Given the description of an element on the screen output the (x, y) to click on. 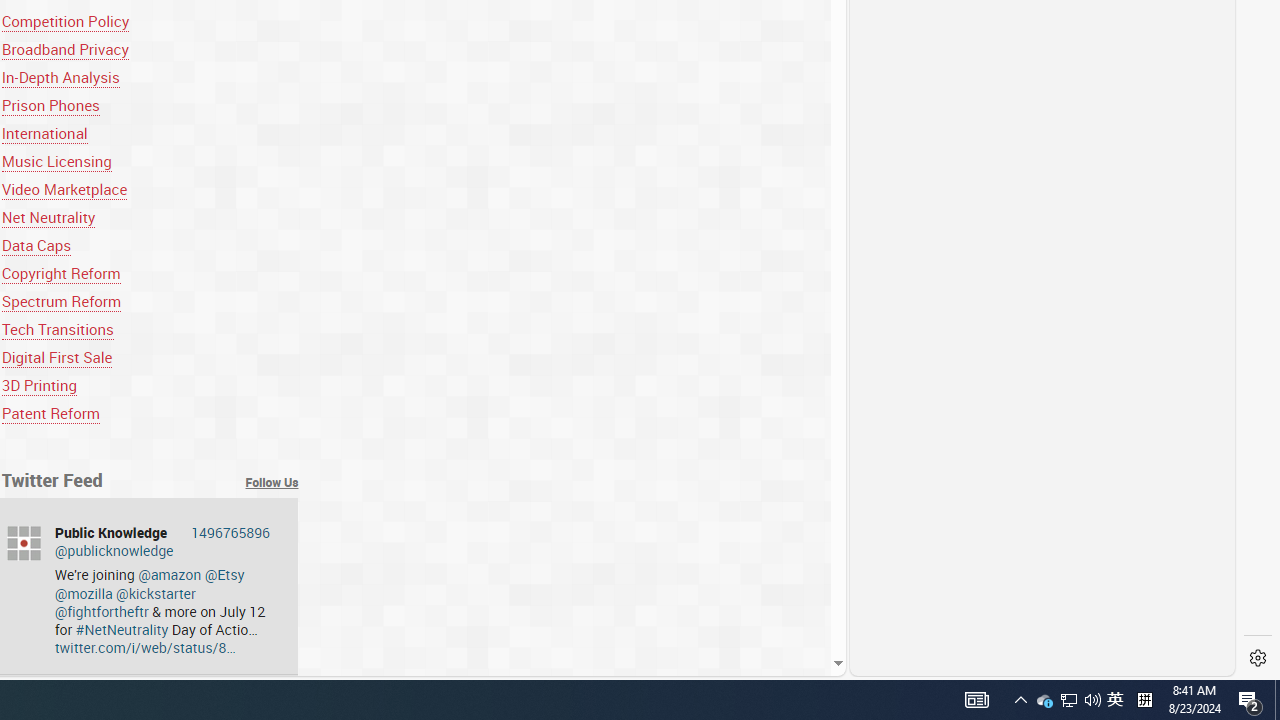
Competition Policy (65, 20)
International (150, 133)
Tech Transitions (150, 328)
@Etsy (223, 574)
Data Caps (150, 245)
Prison Phones (150, 105)
Copyright Reform (150, 272)
@fightfortheftr (100, 610)
@mozilla (82, 593)
Video Marketplace (150, 189)
@amazon (170, 574)
Spectrum Reform (150, 300)
Video Marketplace (64, 189)
Competition Policy (150, 20)
